Given the description of an element on the screen output the (x, y) to click on. 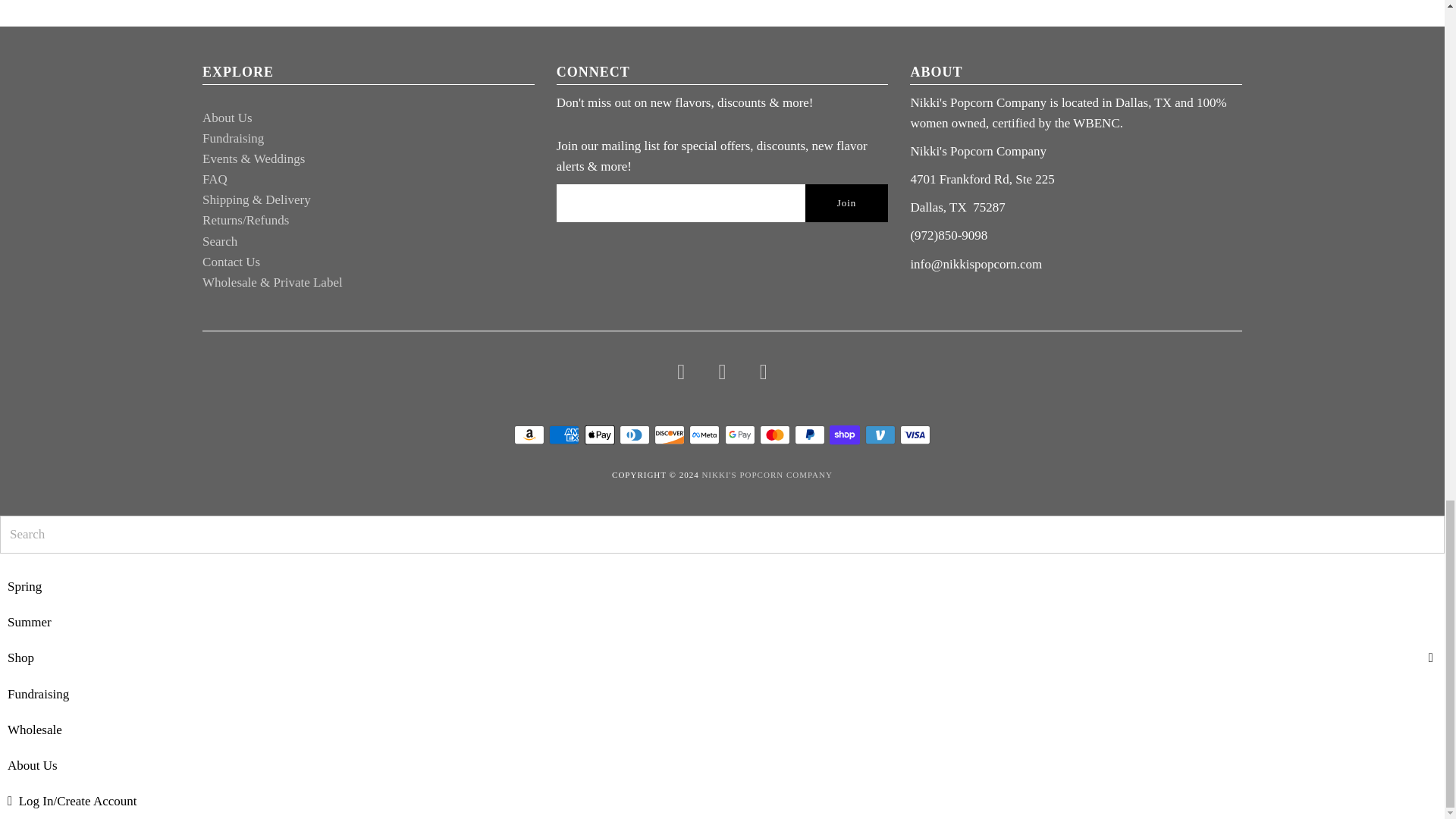
Google Pay (740, 434)
Meta Pay (703, 434)
Shop Pay (844, 434)
Discover (668, 434)
Mastercard (775, 434)
Join (846, 202)
Venmo (879, 434)
PayPal (809, 434)
American Express (563, 434)
Amazon (528, 434)
Diners Club (634, 434)
Visa (914, 434)
Apple Pay (599, 434)
